Given the description of an element on the screen output the (x, y) to click on. 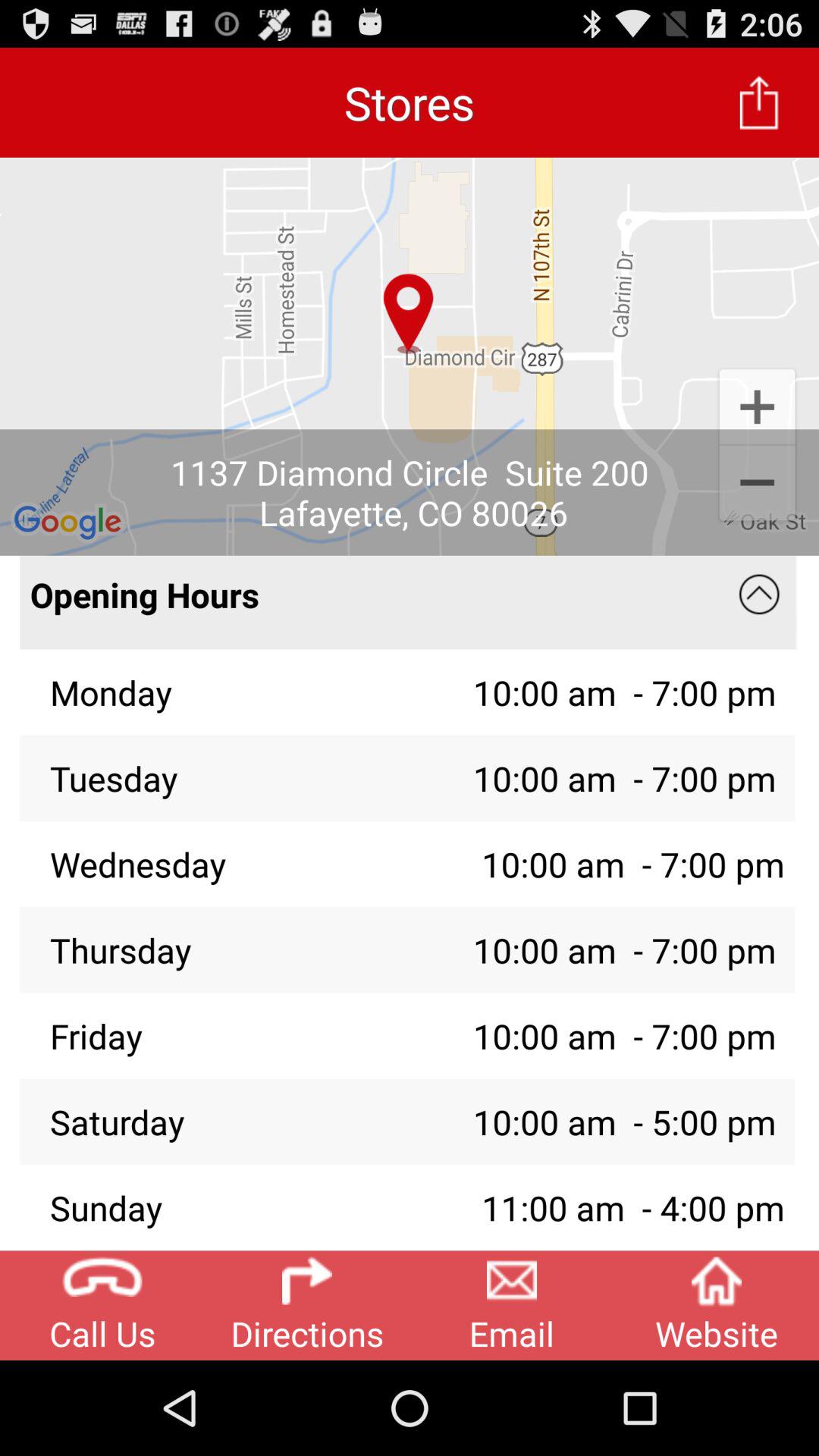
tap email icon (511, 1305)
